Given the description of an element on the screen output the (x, y) to click on. 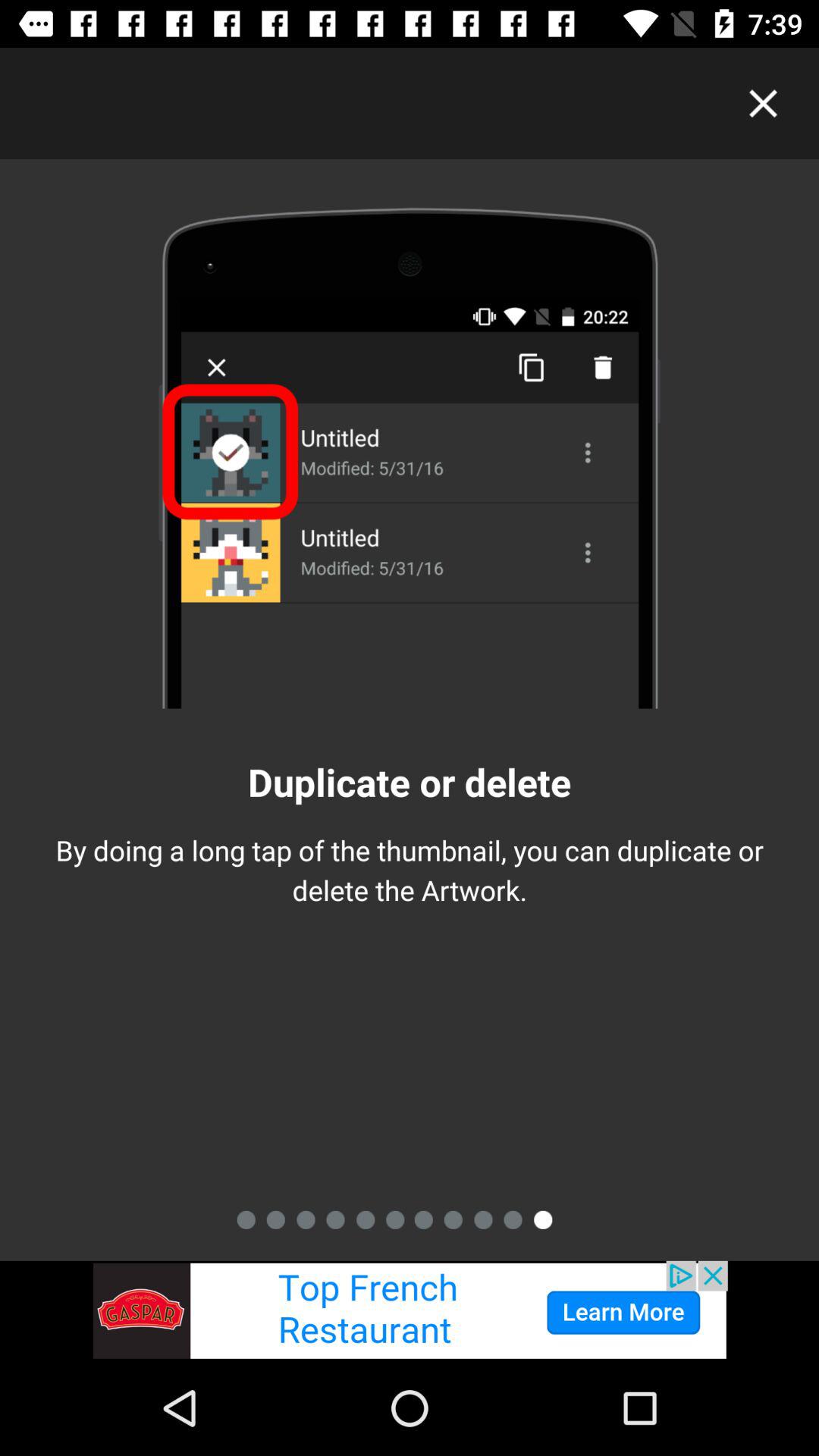
go to advertisement (409, 1310)
